Given the description of an element on the screen output the (x, y) to click on. 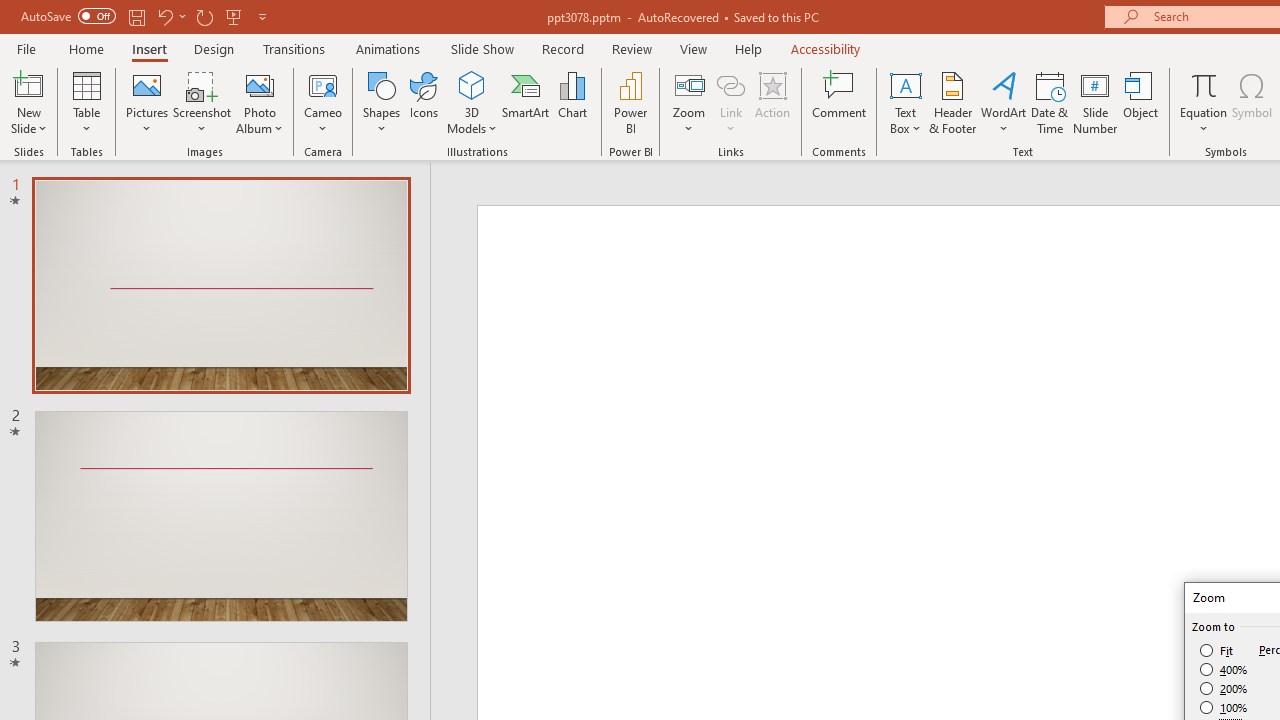
100% (1224, 707)
Icons (424, 102)
Symbol... (1252, 102)
Equation (1203, 102)
Pictures (147, 102)
200% (1224, 688)
Date & Time... (1050, 102)
Power BI (630, 102)
